Given the description of an element on the screen output the (x, y) to click on. 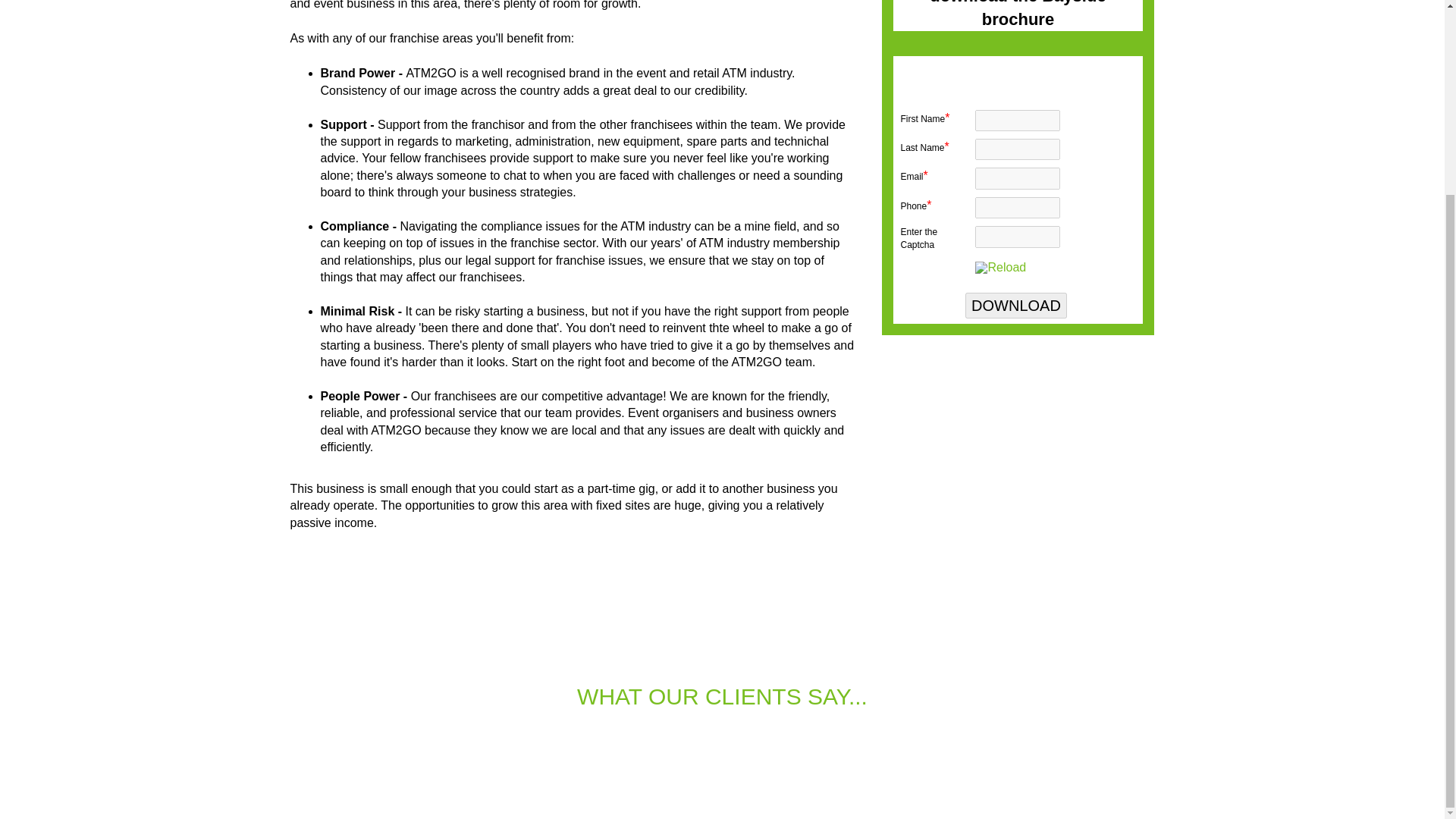
DOWNLOAD (1016, 305)
